Given the description of an element on the screen output the (x, y) to click on. 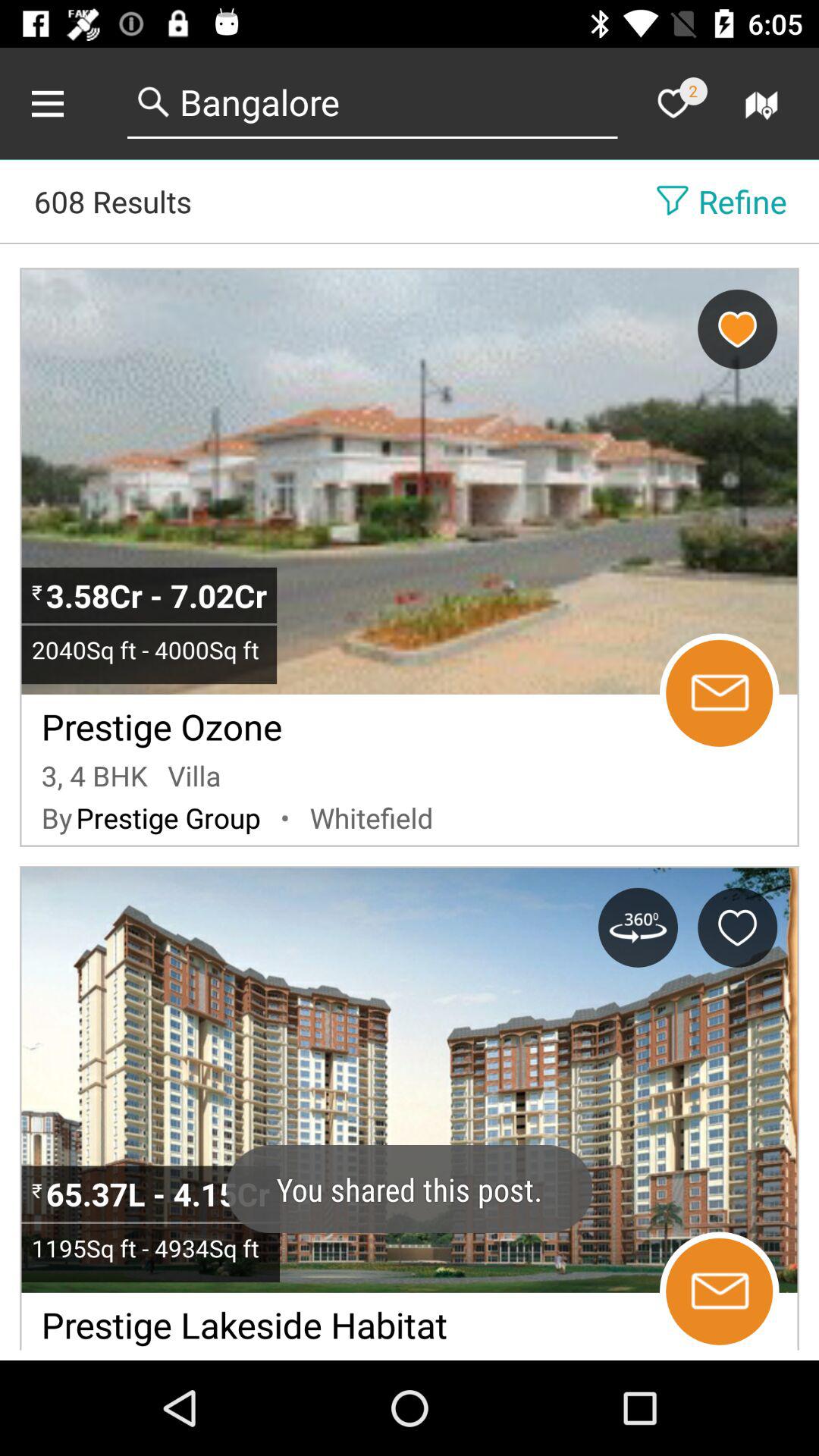
select the item above the prestige ozone (148, 649)
